Given the description of an element on the screen output the (x, y) to click on. 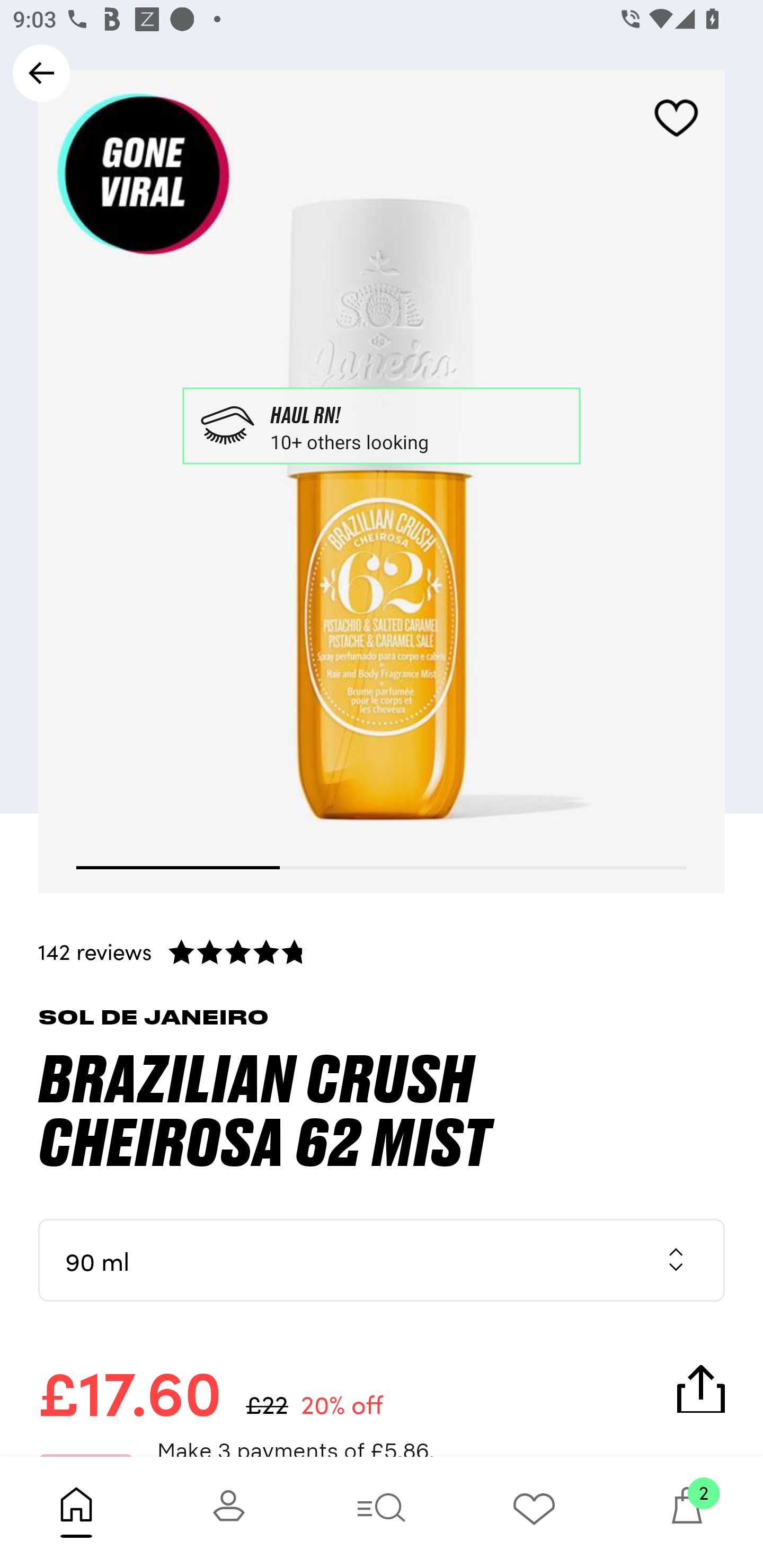
142 reviews (381, 950)
90 ml  (381, 1259)
2 (686, 1512)
